Given the description of an element on the screen output the (x, y) to click on. 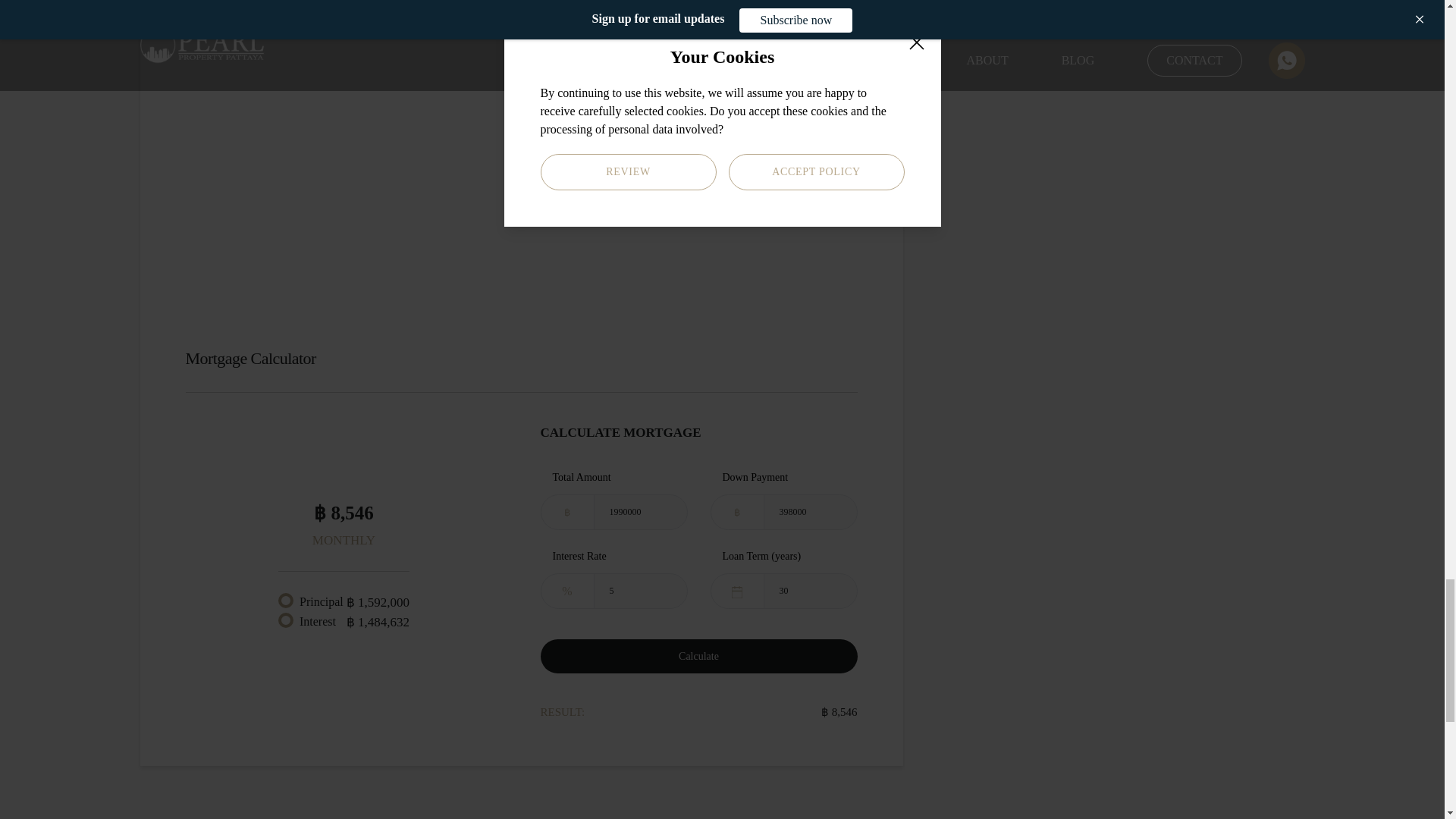
5 (640, 591)
30 (810, 591)
1990000 (640, 512)
398000 (810, 512)
